Given the description of an element on the screen output the (x, y) to click on. 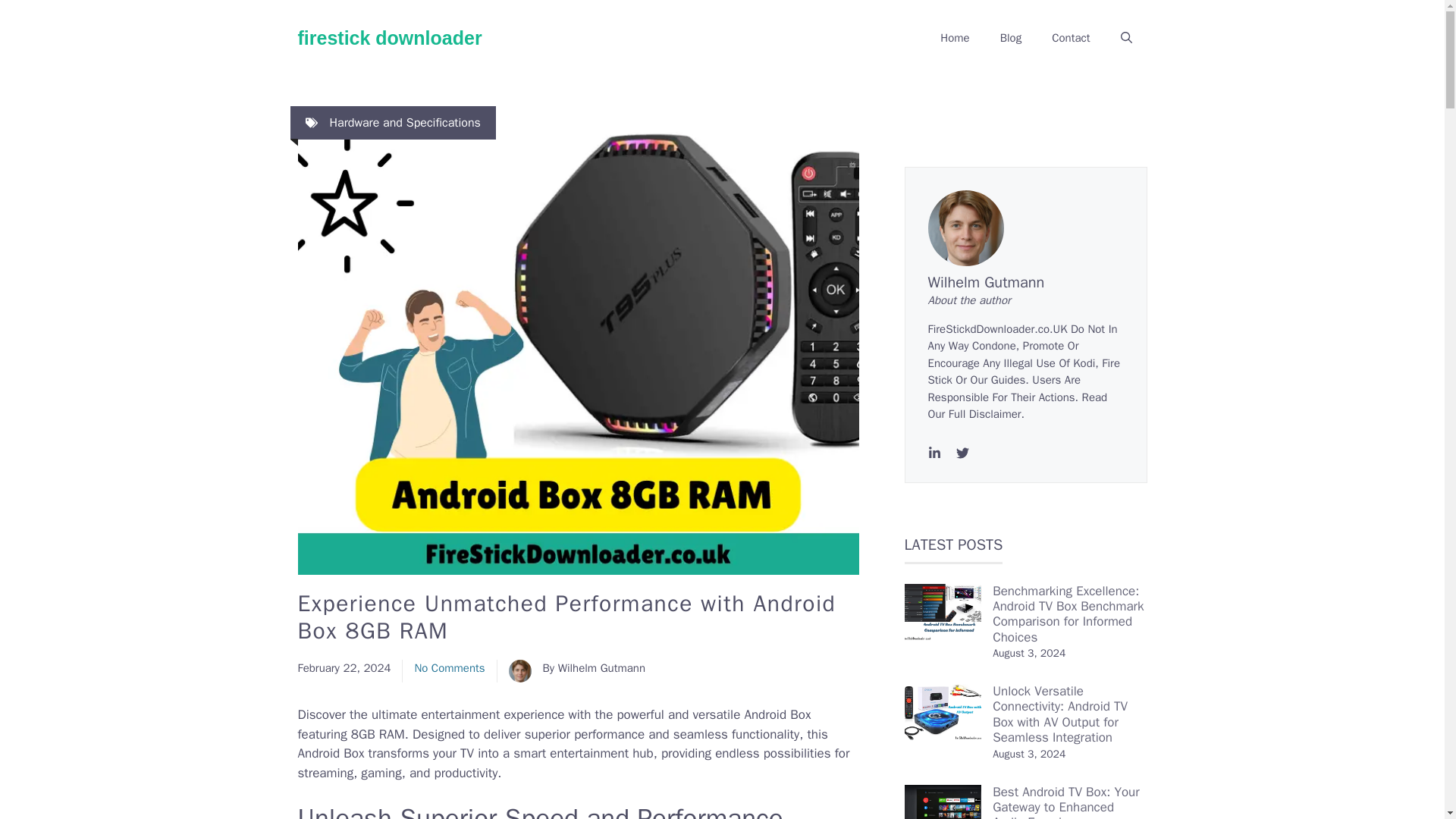
Hardware and Specifications (404, 122)
Contact (1070, 37)
Blog (1010, 37)
firestick downloader (389, 37)
No Comments (448, 667)
Home (954, 37)
